Given the description of an element on the screen output the (x, y) to click on. 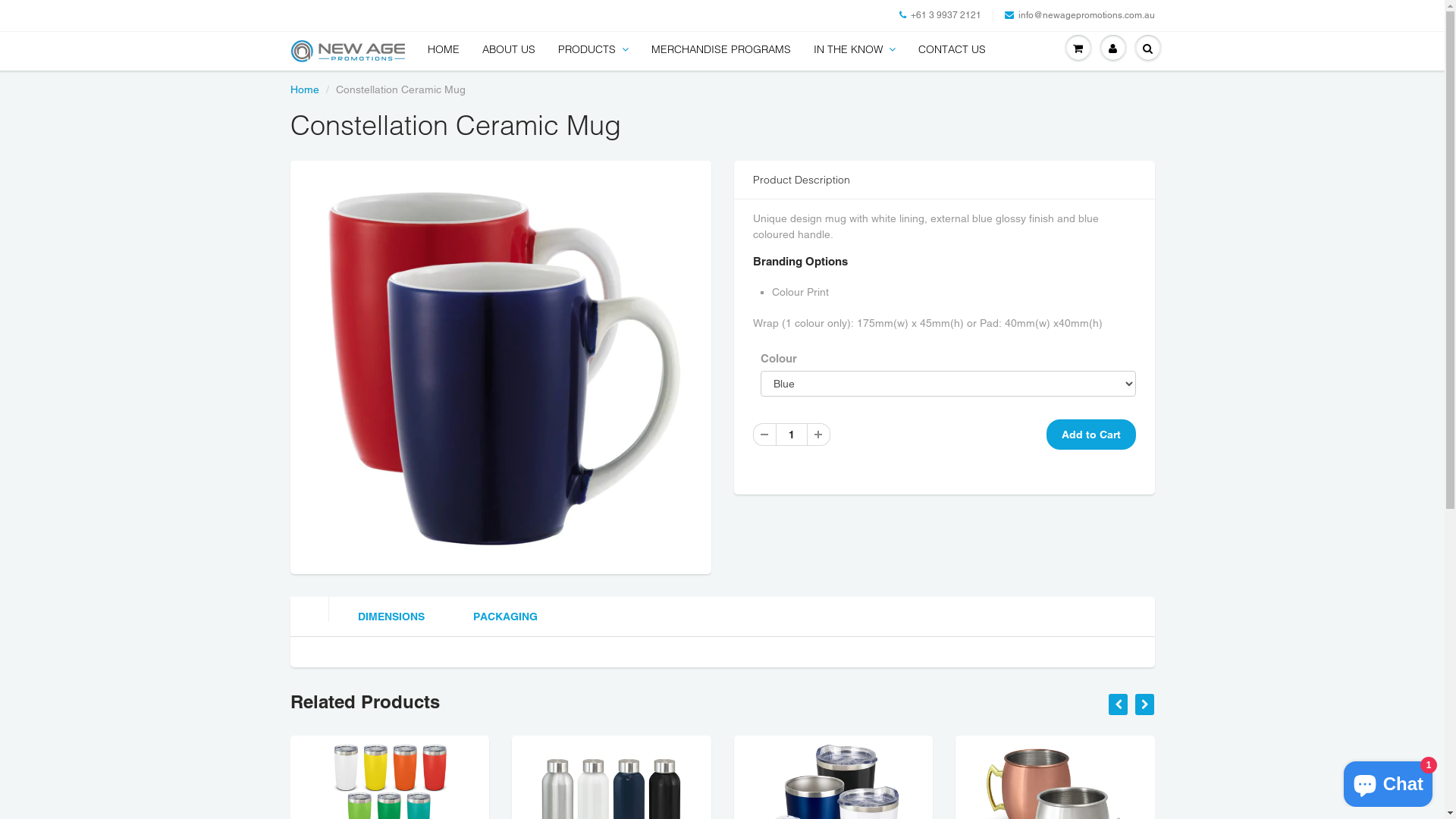
HOME Element type: text (442, 48)
PRODUCTS Element type: text (592, 48)
ABOUT US Element type: text (508, 48)
DIMENSIONS Element type: text (387, 616)
PACKAGING Element type: text (504, 616)
Add to Cart Element type: text (1090, 434)
Home Element type: text (303, 89)
IN THE KNOW Element type: text (854, 48)
+61 3 9937 2121 Element type: text (940, 15)
MERCHANDISE PROGRAMS Element type: text (721, 48)
info@newagepromotions.com.au Element type: text (1079, 15)
CONTACT US Element type: text (951, 48)
Shopify online store chat Element type: hover (1388, 780)
Constellation Ceramic Mug Element type: hover (500, 365)
